Given the description of an element on the screen output the (x, y) to click on. 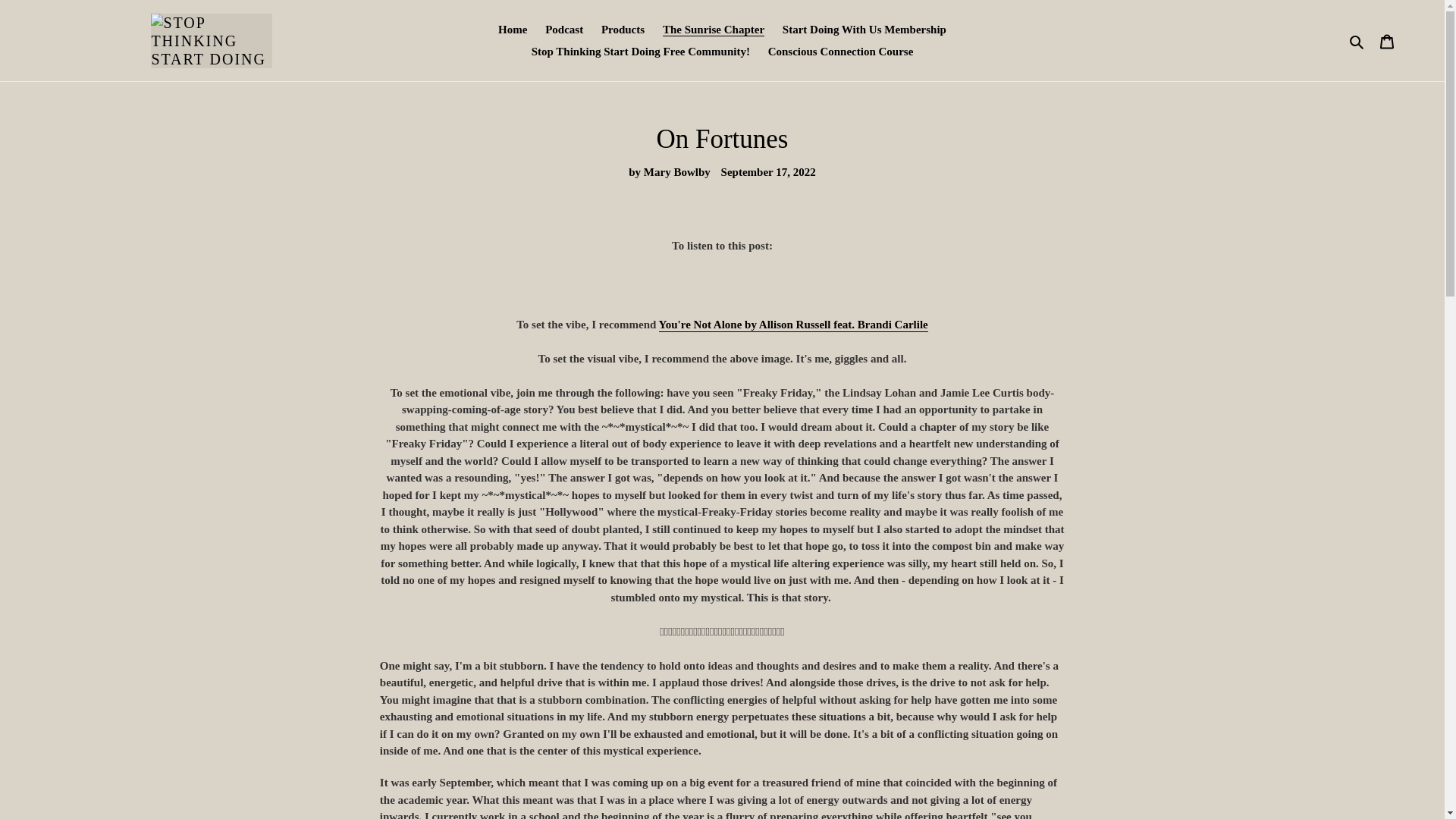
Products (623, 29)
Podcast (564, 29)
The Sunrise Chapter (713, 29)
Home (512, 29)
Conscious Connection Course (840, 51)
Search (1357, 40)
Cart (1387, 40)
Stop Thinking Start Doing Free Community! (640, 51)
You're Not Alone by Allison Russell feat. Brandi Carlile (793, 325)
Start Doing With Us Membership (863, 29)
